Given the description of an element on the screen output the (x, y) to click on. 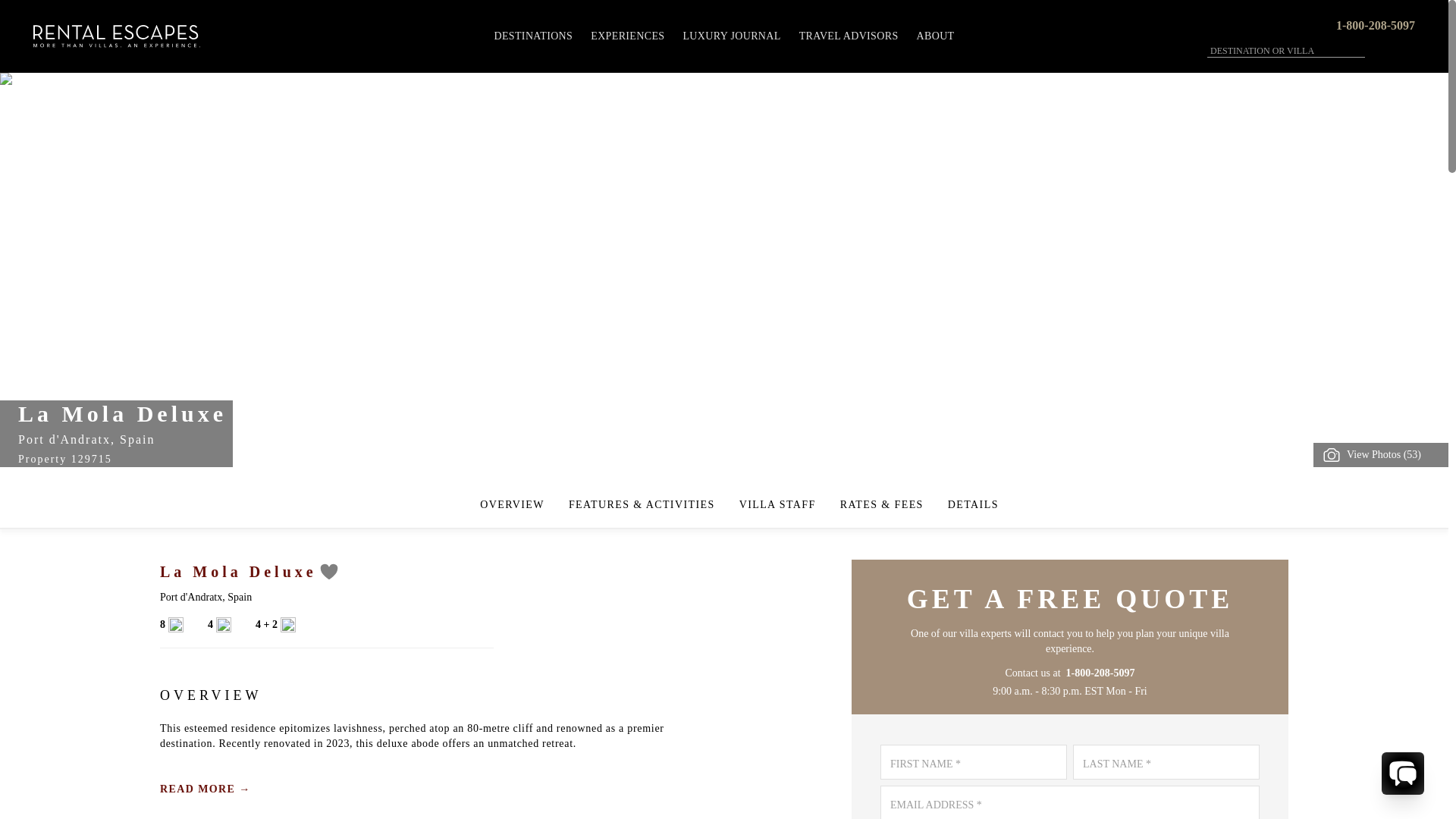
TRAVEL ADVISORS (848, 35)
Spain (136, 439)
EXPERIENCES (626, 35)
Port d'Andratx (191, 596)
ABOUT (935, 35)
LUXURY JOURNAL (730, 35)
Spain (239, 596)
DESTINATIONS (532, 35)
Port d'Andratx (63, 439)
